Given the description of an element on the screen output the (x, y) to click on. 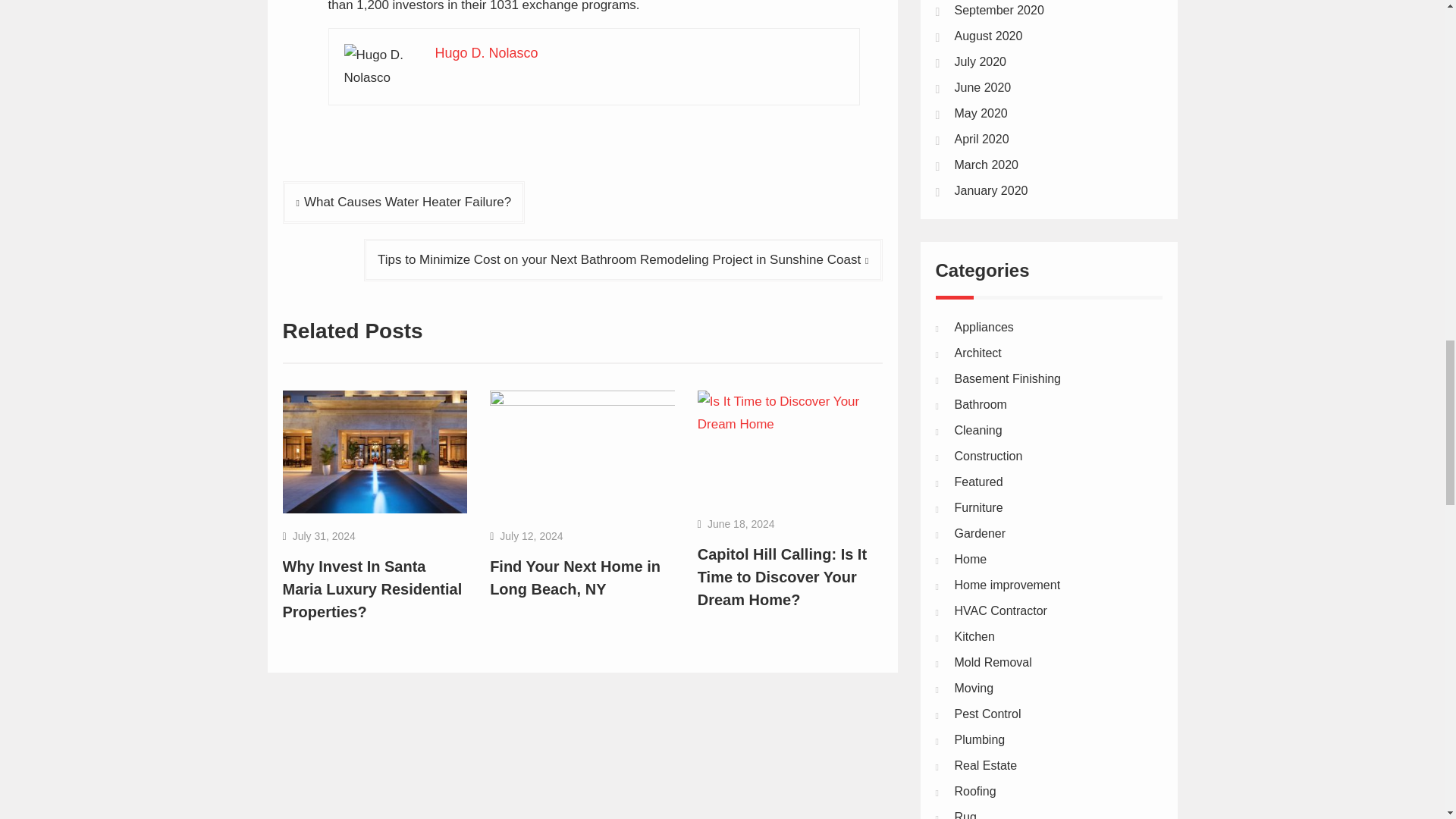
What Causes Water Heater Failure? (403, 201)
Hugo D. Nolasco (486, 52)
Find Your Next Home in Long Beach, NY (575, 577)
Why Invest In Santa Maria Luxury Residential Properties? (371, 588)
